Given the description of an element on the screen output the (x, y) to click on. 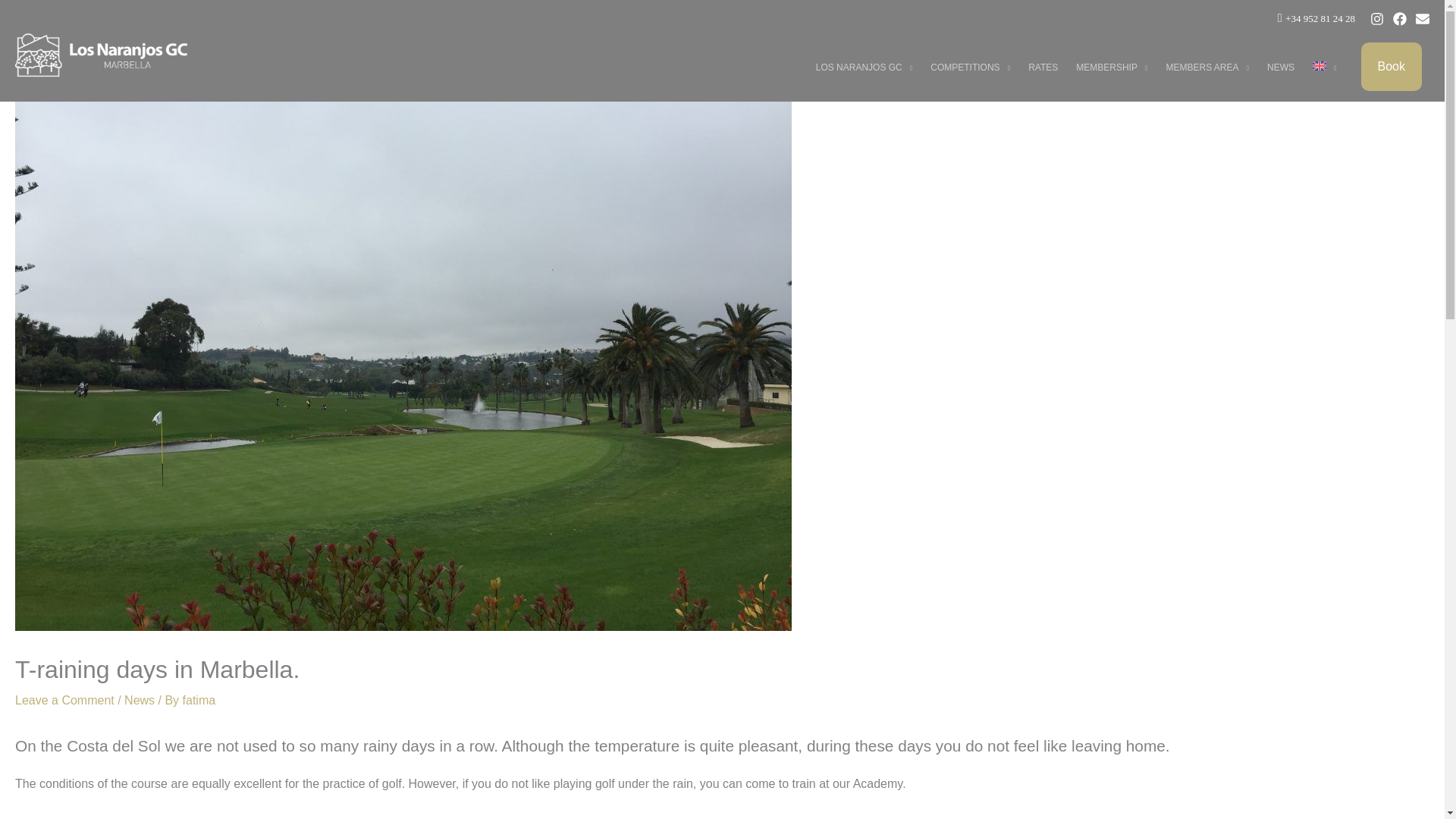
COMPETITIONS (970, 67)
LOS NARANJOS GC (863, 67)
MEMBERSHIP (1111, 67)
View all posts by fatima (199, 699)
MEMBERS AREA (1206, 67)
